Given the description of an element on the screen output the (x, y) to click on. 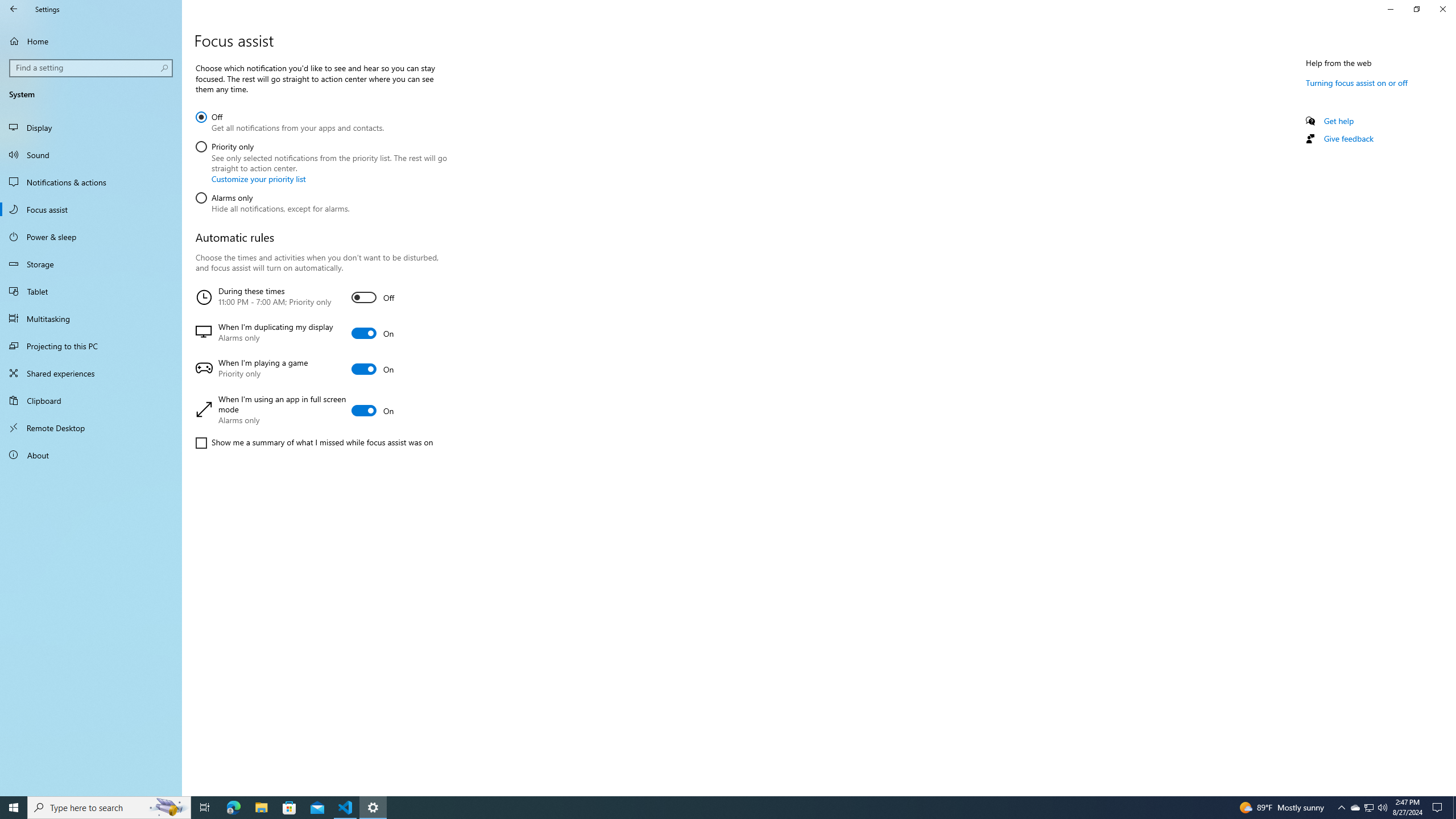
Visual Studio Code - 1 running window (345, 807)
Notification Chevron (1341, 807)
Microsoft Store (289, 807)
Display (91, 126)
Get help (1338, 120)
Task View (204, 807)
Settings - 1 running window (373, 807)
Shared experiences (91, 372)
Show me a summary of what I missed while focus assist was on (314, 443)
Storage (91, 263)
Close Settings (1442, 9)
When I'm duplicating my display (319, 333)
Running applications (717, 807)
Priority only (1368, 807)
